Given the description of an element on the screen output the (x, y) to click on. 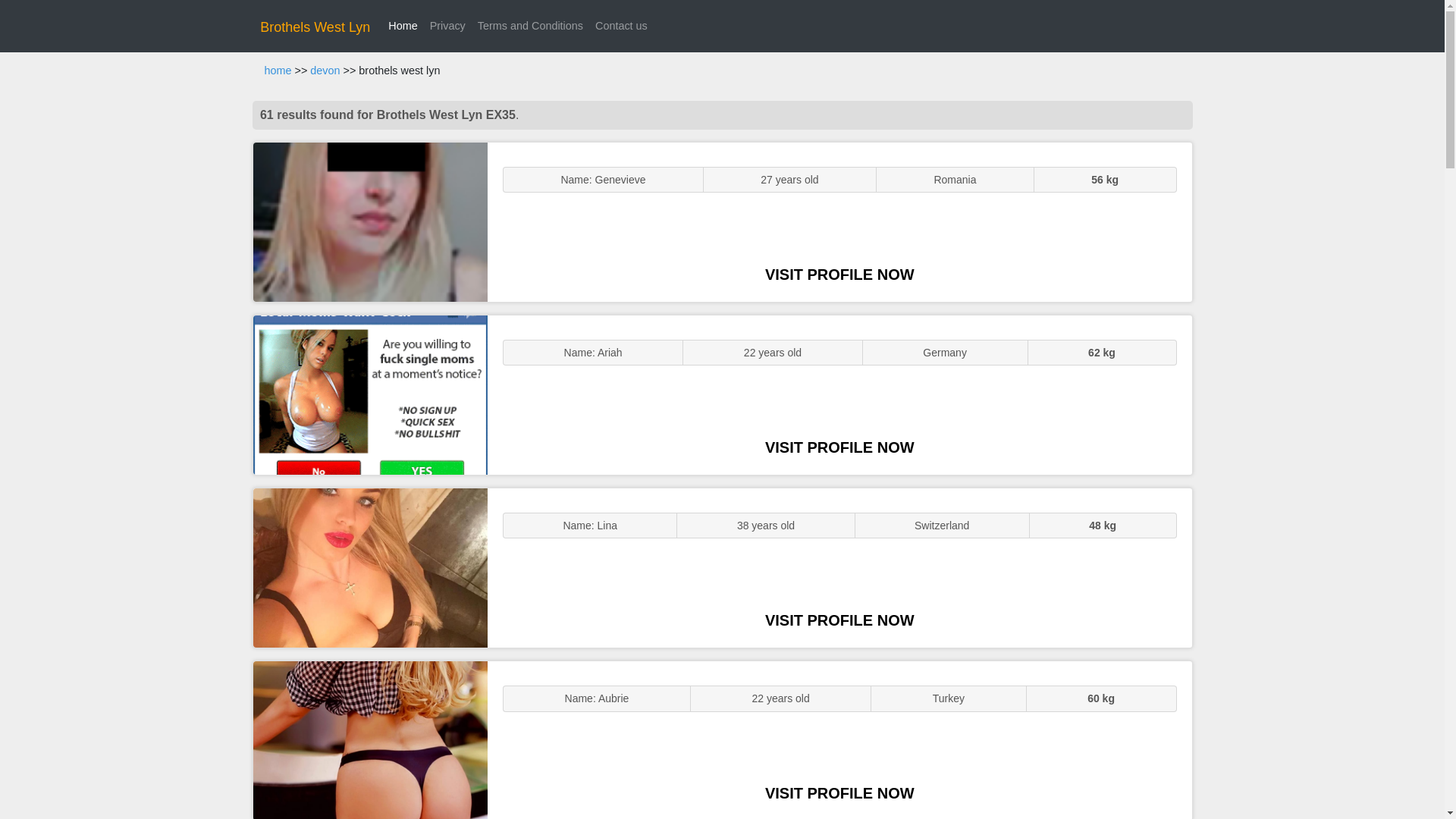
Sexy (370, 567)
Sluts (370, 739)
devon (324, 70)
VISIT PROFILE NOW (839, 446)
Contact us (621, 25)
 ENGLISH STUNNER (370, 222)
Terms and Conditions (530, 25)
VISIT PROFILE NOW (839, 274)
VISIT PROFILE NOW (839, 792)
home (277, 70)
